Given the description of an element on the screen output the (x, y) to click on. 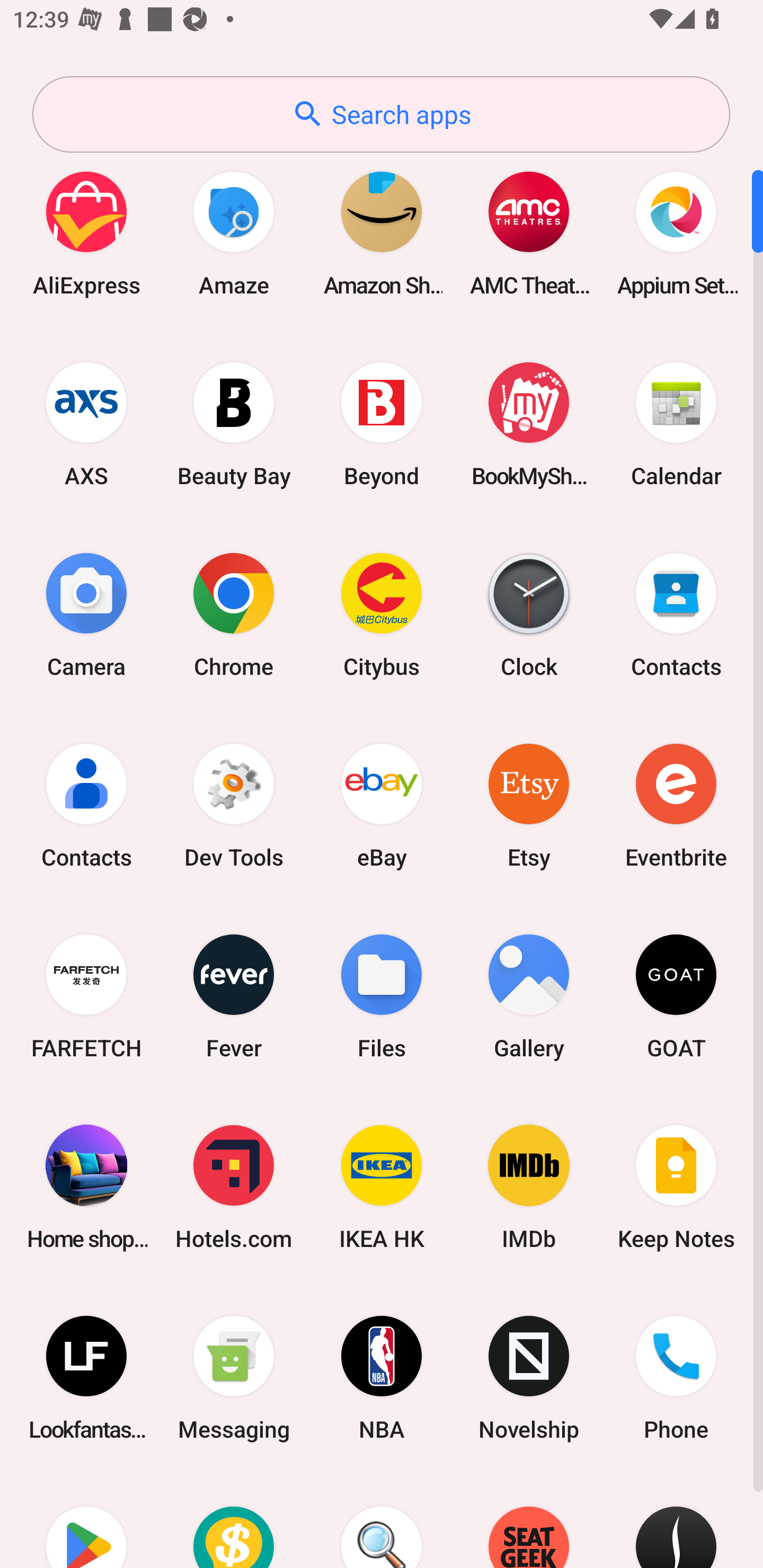
  Search apps (381, 114)
AliExpress (86, 233)
Amaze (233, 233)
Amazon Shopping (381, 233)
AMC Theatres (528, 233)
Appium Settings (676, 233)
AXS (86, 424)
Beauty Bay (233, 424)
Beyond (381, 424)
BookMyShow (528, 424)
Calendar (676, 424)
Camera (86, 614)
Chrome (233, 614)
Citybus (381, 614)
Clock (528, 614)
Contacts (676, 614)
Contacts (86, 805)
Dev Tools (233, 805)
eBay (381, 805)
Etsy (528, 805)
Eventbrite (676, 805)
FARFETCH (86, 996)
Fever (233, 996)
Files (381, 996)
Gallery (528, 996)
GOAT (676, 996)
Home shopping (86, 1186)
Hotels.com (233, 1186)
IKEA HK (381, 1186)
IMDb (528, 1186)
Keep Notes (676, 1186)
Lookfantastic (86, 1377)
Messaging (233, 1377)
NBA (381, 1377)
Novelship (528, 1377)
Phone (676, 1377)
